Given the description of an element on the screen output the (x, y) to click on. 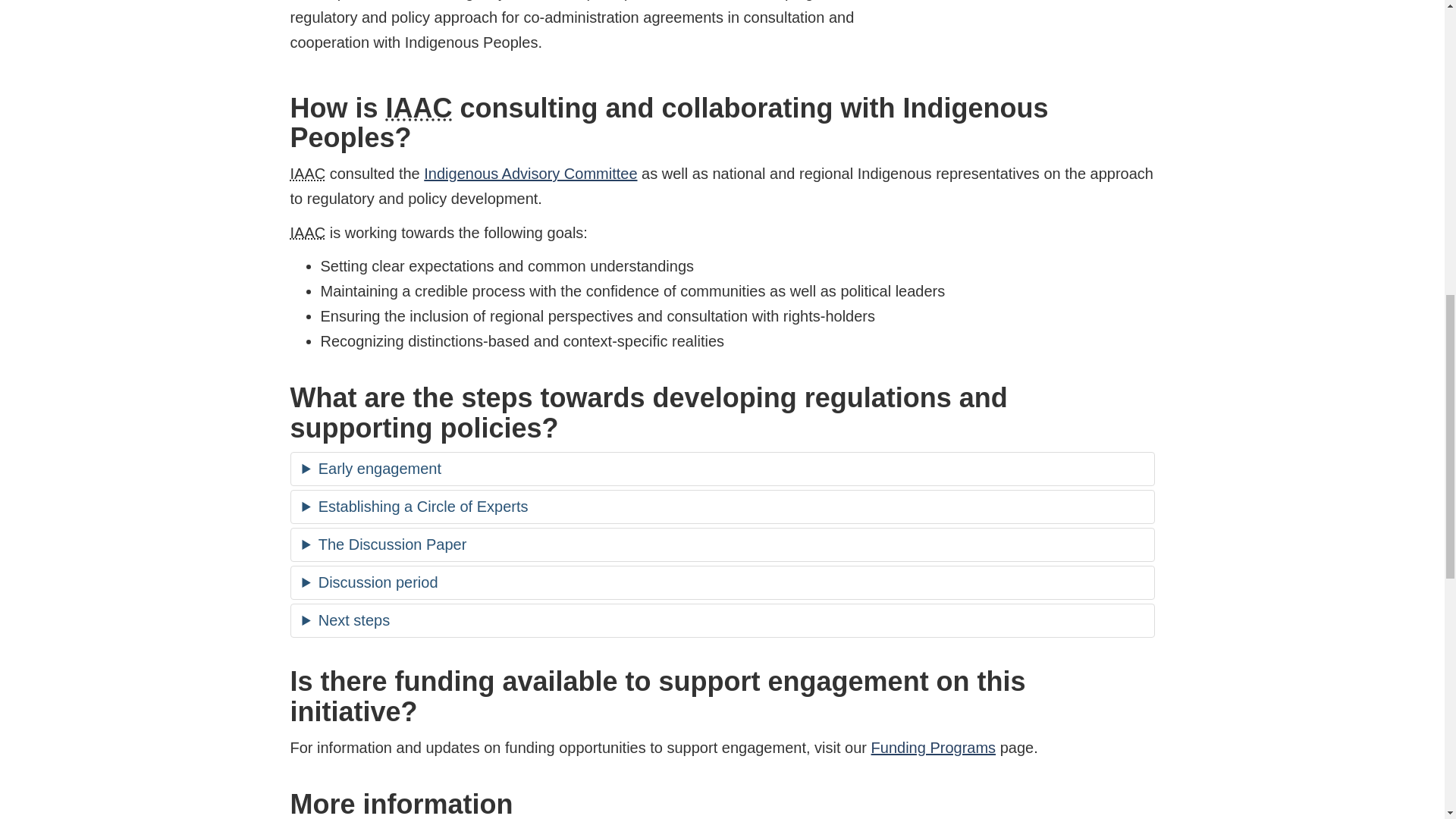
Impact Assessment Agency of Canada (306, 232)
Impact Assessment Agency of Canada (306, 173)
Impact Assessment Agency of Canada (418, 107)
Indigenous Advisory Committee (530, 173)
Funding Programs (932, 747)
